Given the description of an element on the screen output the (x, y) to click on. 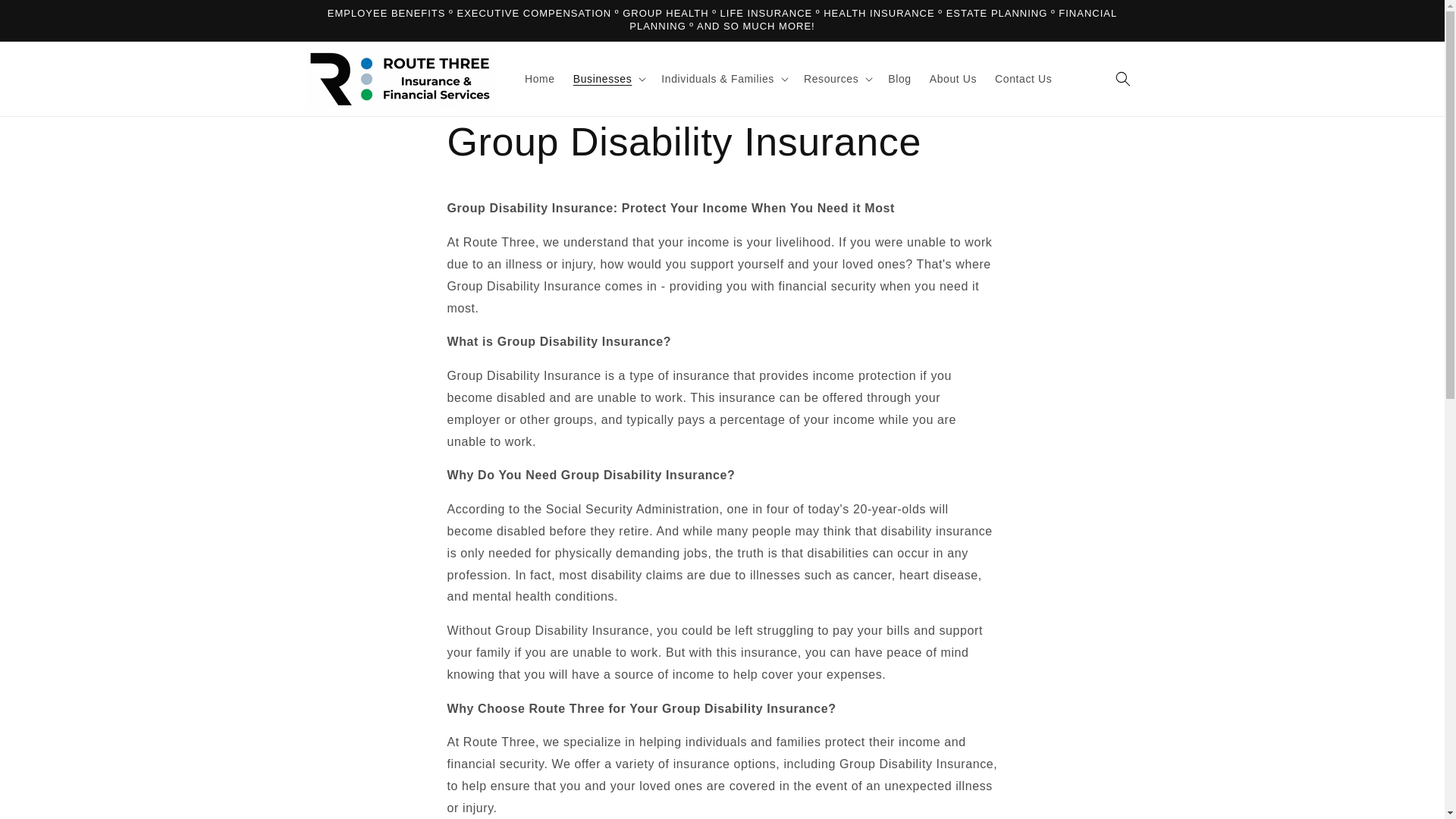
Skip to content (45, 17)
Home (539, 79)
